Given the description of an element on the screen output the (x, y) to click on. 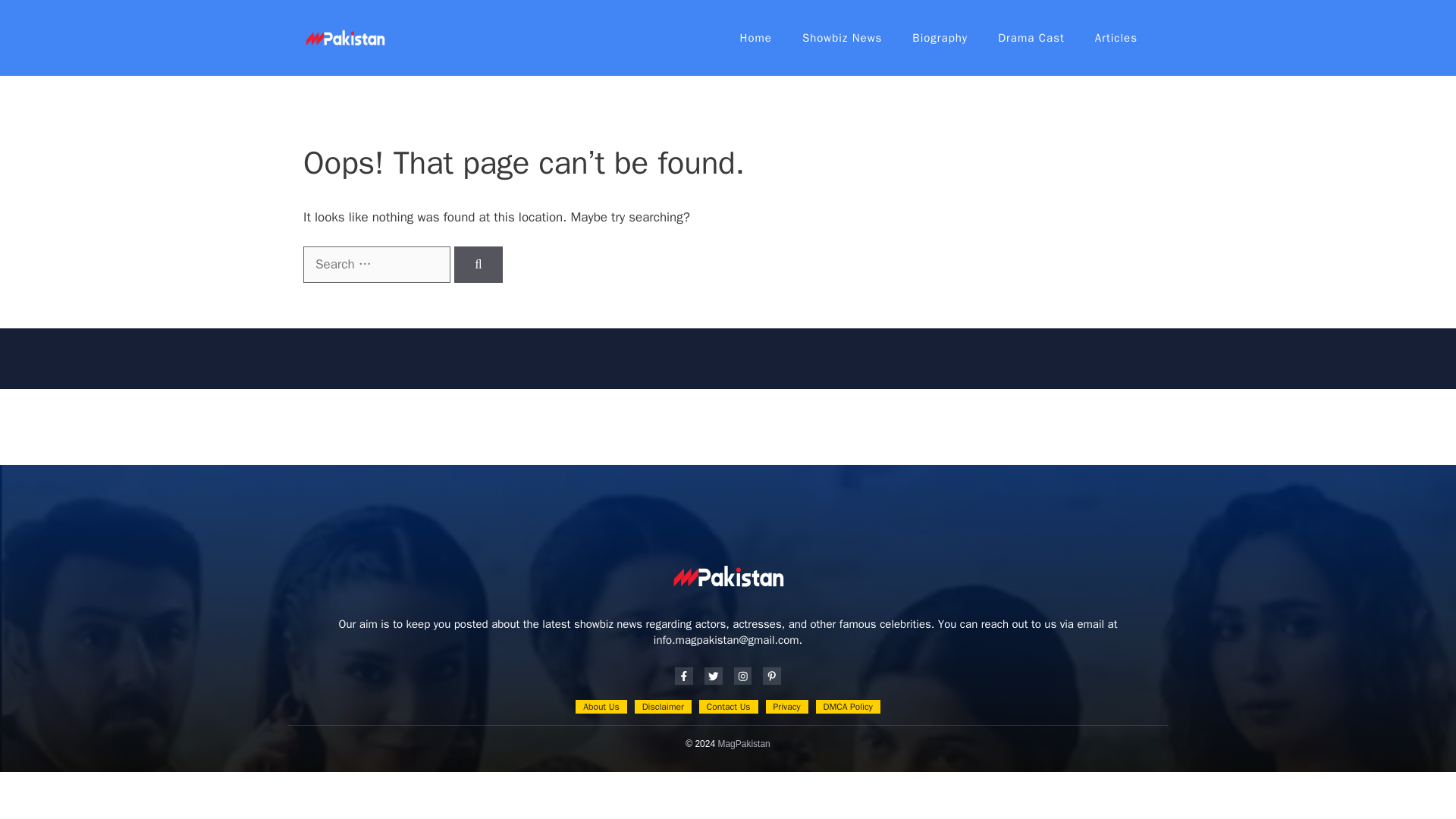
Home (756, 37)
MagPakistan (743, 743)
Biography (939, 37)
Disclaimer (662, 706)
Contact Us (728, 706)
Showbiz News (841, 37)
Privacy (786, 706)
Articles (1116, 37)
Search for: (375, 264)
About Us (600, 706)
